Given the description of an element on the screen output the (x, y) to click on. 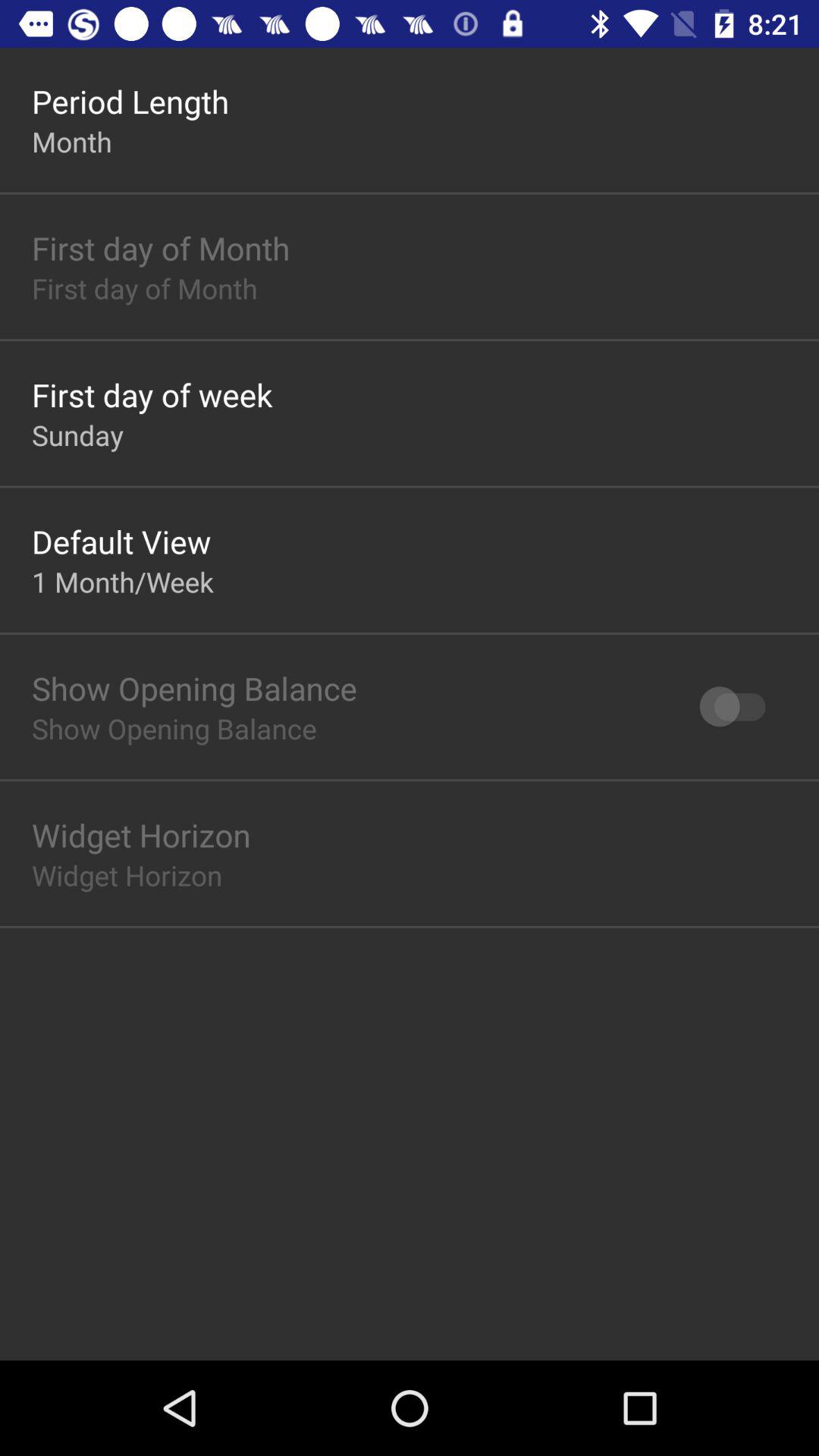
press item next to show opening balance item (739, 706)
